Given the description of an element on the screen output the (x, y) to click on. 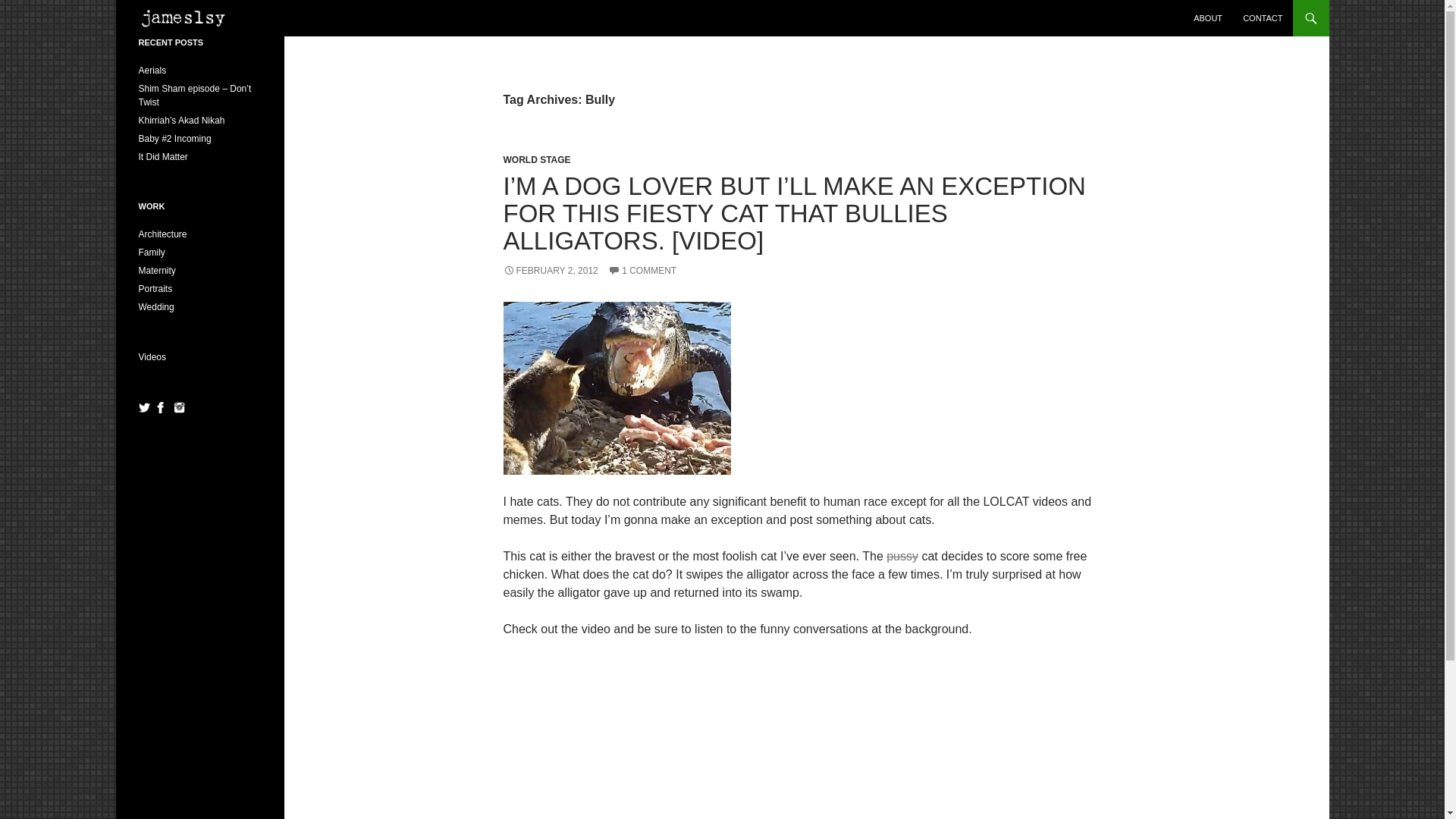
CONTACT (1262, 18)
Aerials (151, 70)
Wedding (155, 307)
Family (151, 252)
It Did Matter (162, 156)
Maternity (156, 270)
1 COMMENT (642, 270)
ABOUT (1208, 18)
jameslsy Photography (189, 17)
Architecture (162, 234)
Videos (151, 357)
FEBRUARY 2, 2012 (550, 270)
Portraits (154, 288)
